Given the description of an element on the screen output the (x, y) to click on. 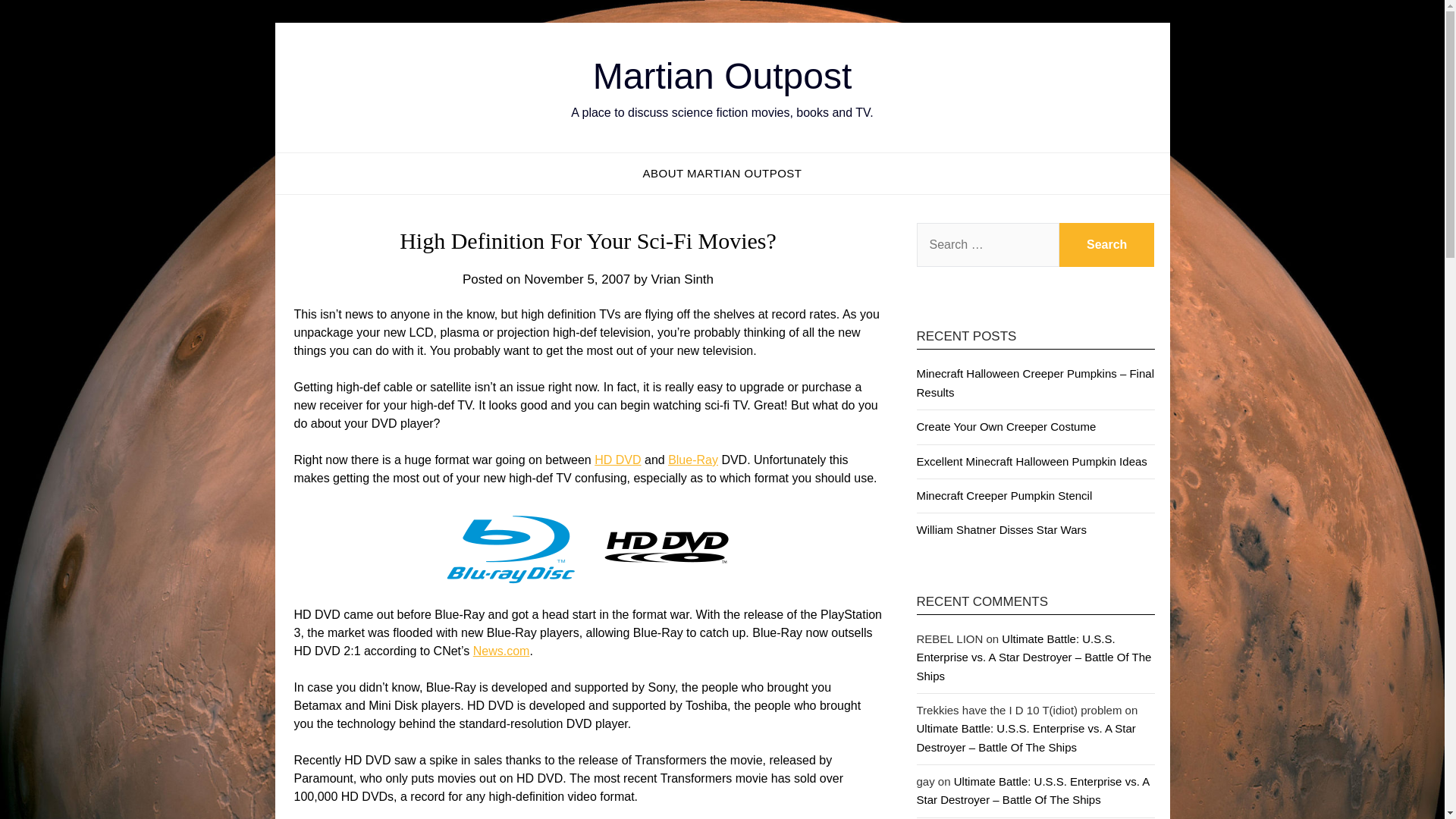
Search (1106, 244)
Martian Outpost (721, 76)
Search (1106, 244)
Vrian Sinth (682, 278)
HD DVD (617, 459)
Create Your Own Creeper Costume (1005, 426)
ABOUT MARTIAN OUTPOST (721, 173)
Excellent Minecraft Halloween Pumpkin Ideas (1031, 461)
Blue-Ray (692, 459)
HD DVD (617, 459)
Minecraft Creeper Pumpkin Stencil (1003, 495)
William Shatner Disses Star Wars (1000, 529)
Search (1106, 244)
HD DVD and Blue Ray (501, 650)
Blue-Ray DVD Players (692, 459)
